Given the description of an element on the screen output the (x, y) to click on. 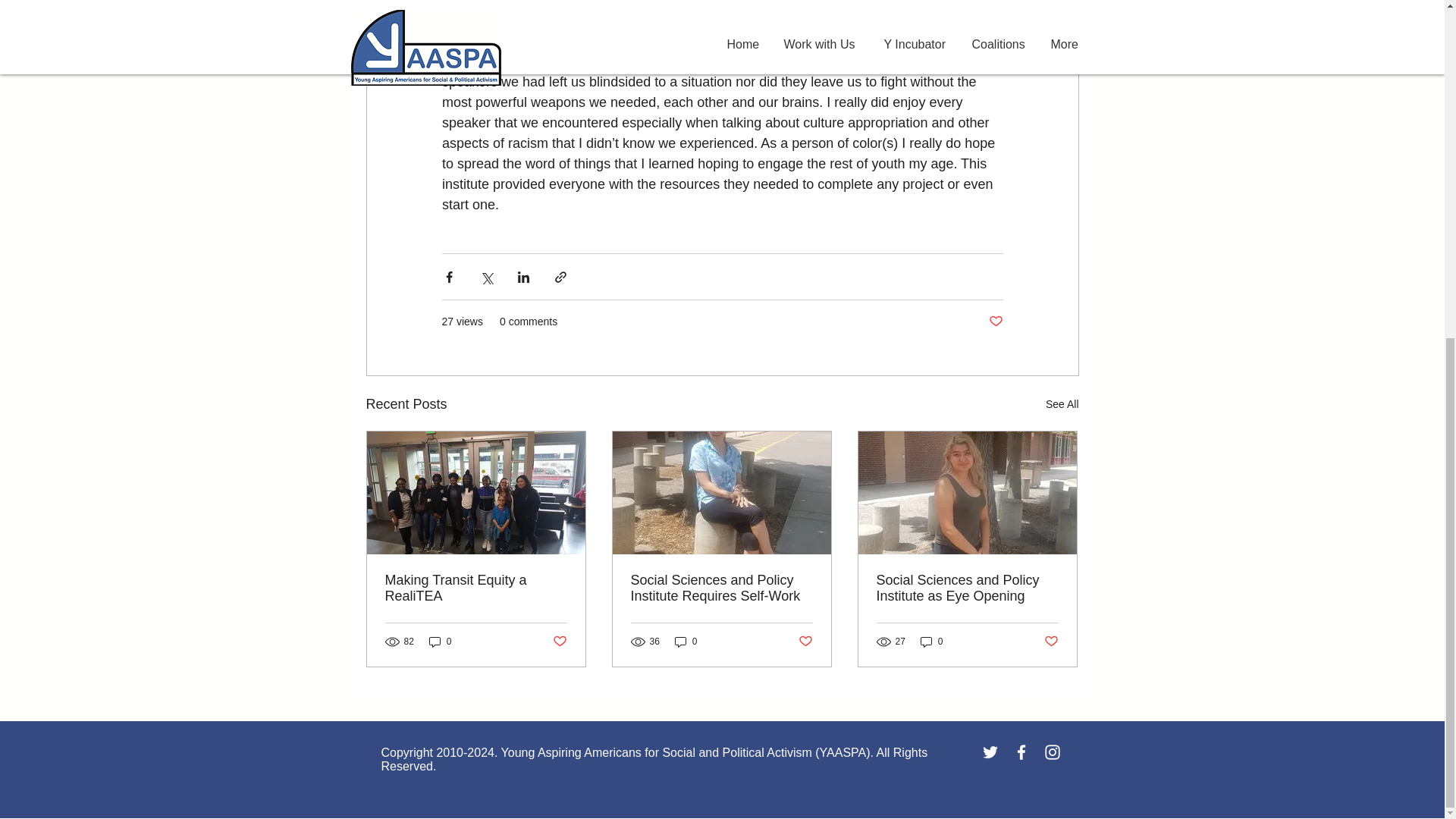
Making Transit Equity a RealiTEA (476, 588)
0 (685, 640)
Post not marked as liked (804, 641)
Post not marked as liked (558, 641)
Social Sciences and Policy Institute as Eye Opening (967, 588)
See All (1061, 404)
0 (931, 640)
Post not marked as liked (1050, 641)
Social Sciences and Policy Institute Requires Self-Work (721, 588)
0 (440, 640)
Post not marked as liked (995, 321)
